Given the description of an element on the screen output the (x, y) to click on. 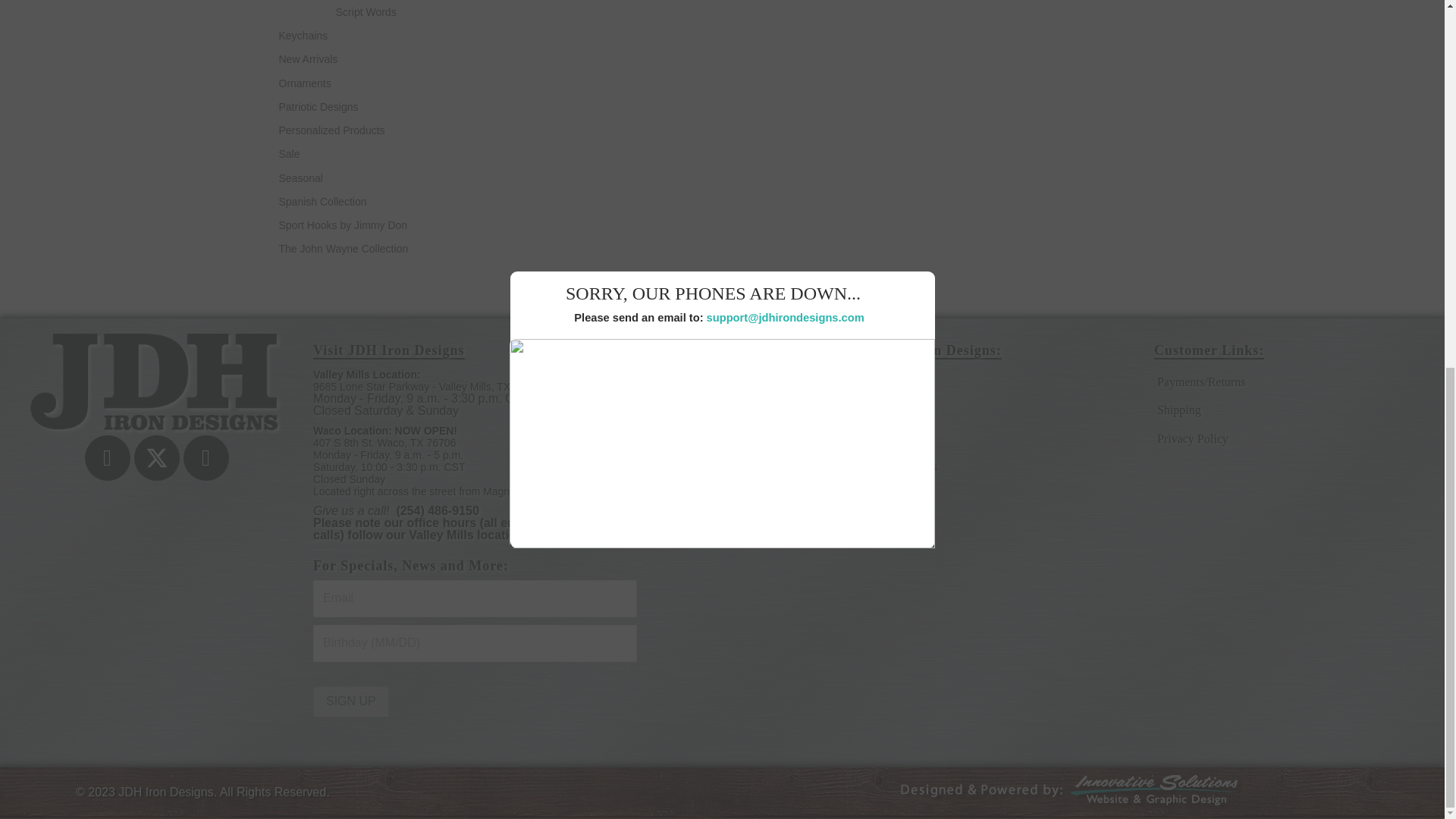
Facebook (107, 457)
SIGN UP (350, 702)
jdh-footer-logo-revised (156, 383)
innovative-logo-footer (1072, 792)
Instagram (205, 457)
